Given the description of an element on the screen output the (x, y) to click on. 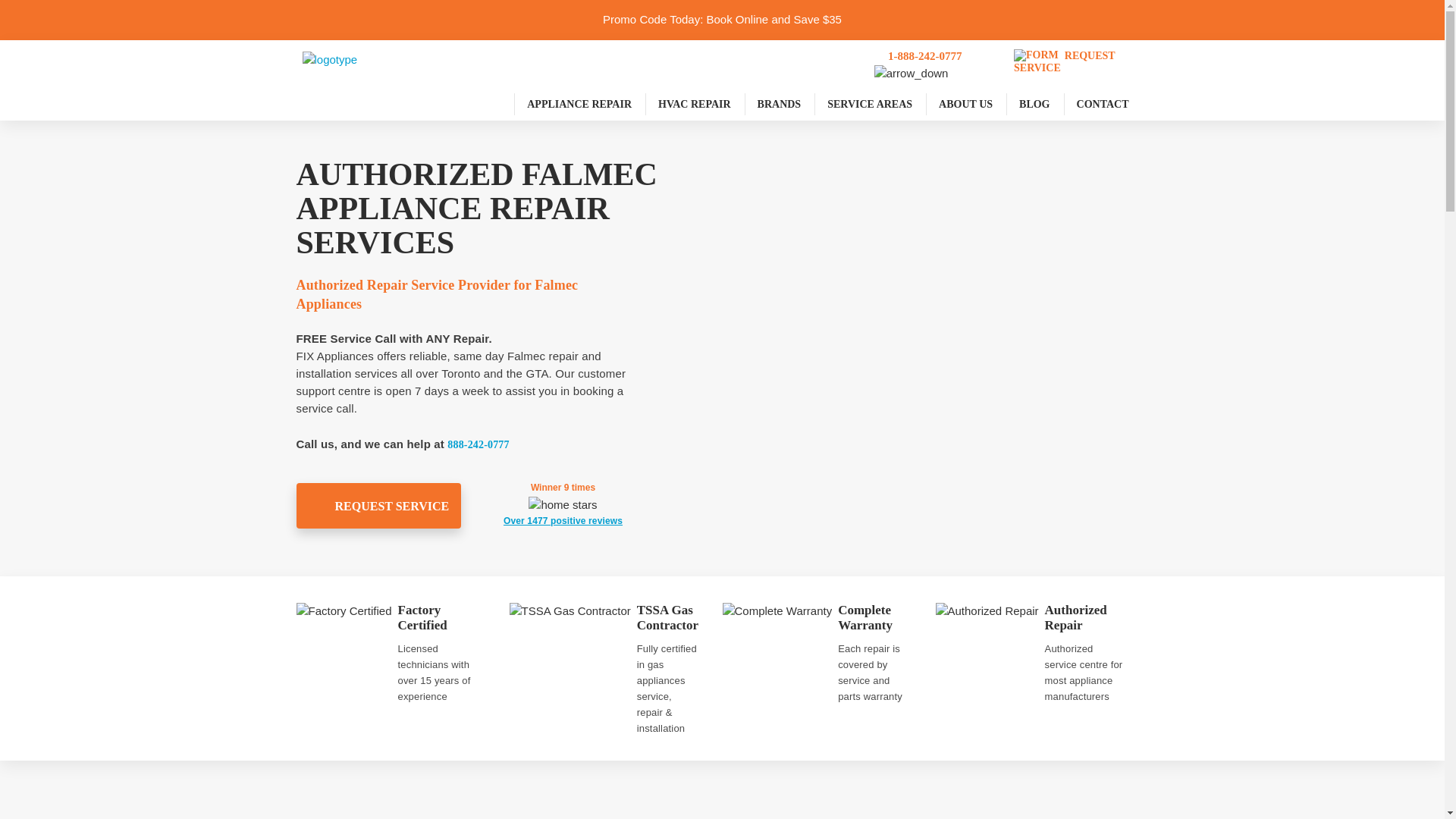
BRANDS (779, 104)
1-888-242-0777 (925, 54)
APPLIANCE REPAIR (579, 104)
HVAC REPAIR (694, 104)
Brands We Service (779, 104)
REQUEST SERVICE (1077, 63)
